Given the description of an element on the screen output the (x, y) to click on. 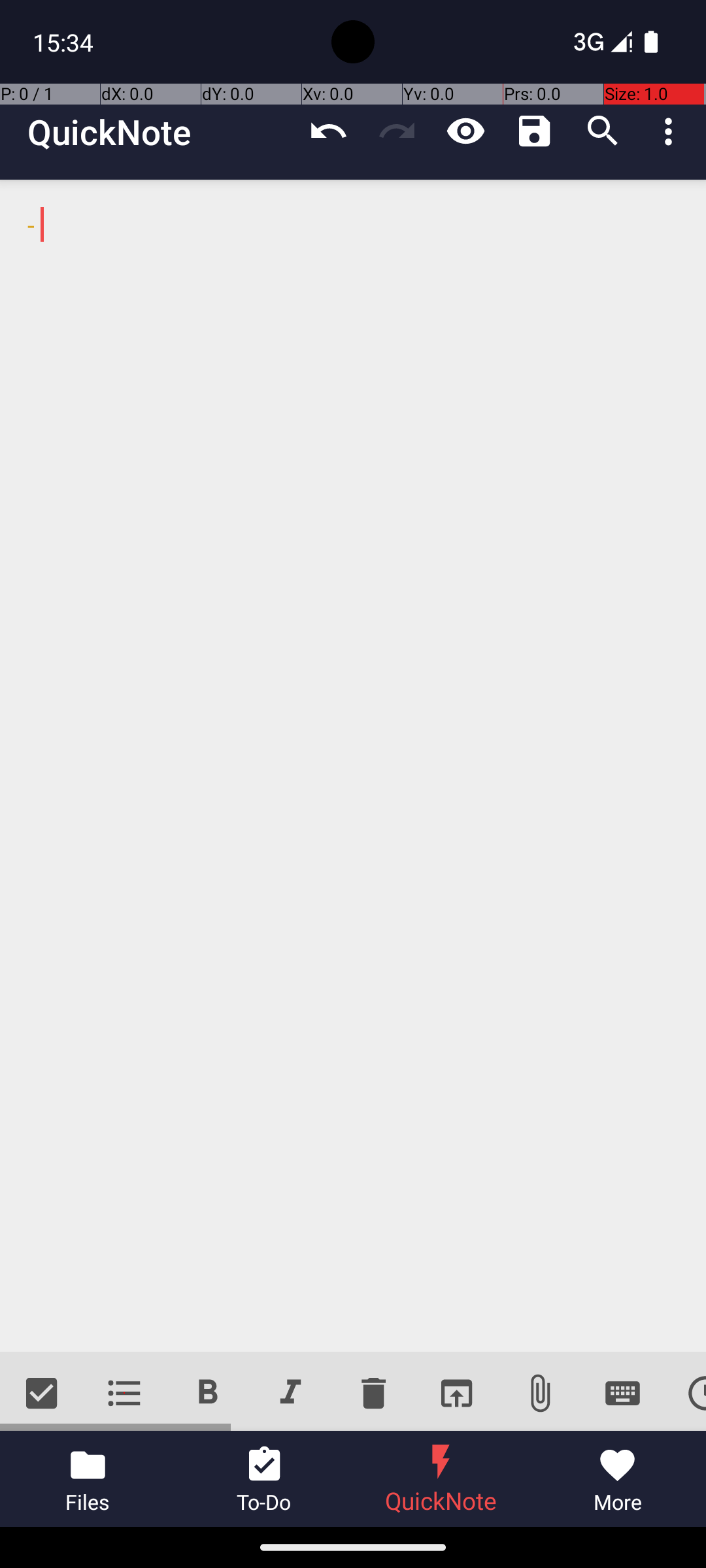
-  Element type: android.widget.EditText (353, 765)
